Given the description of an element on the screen output the (x, y) to click on. 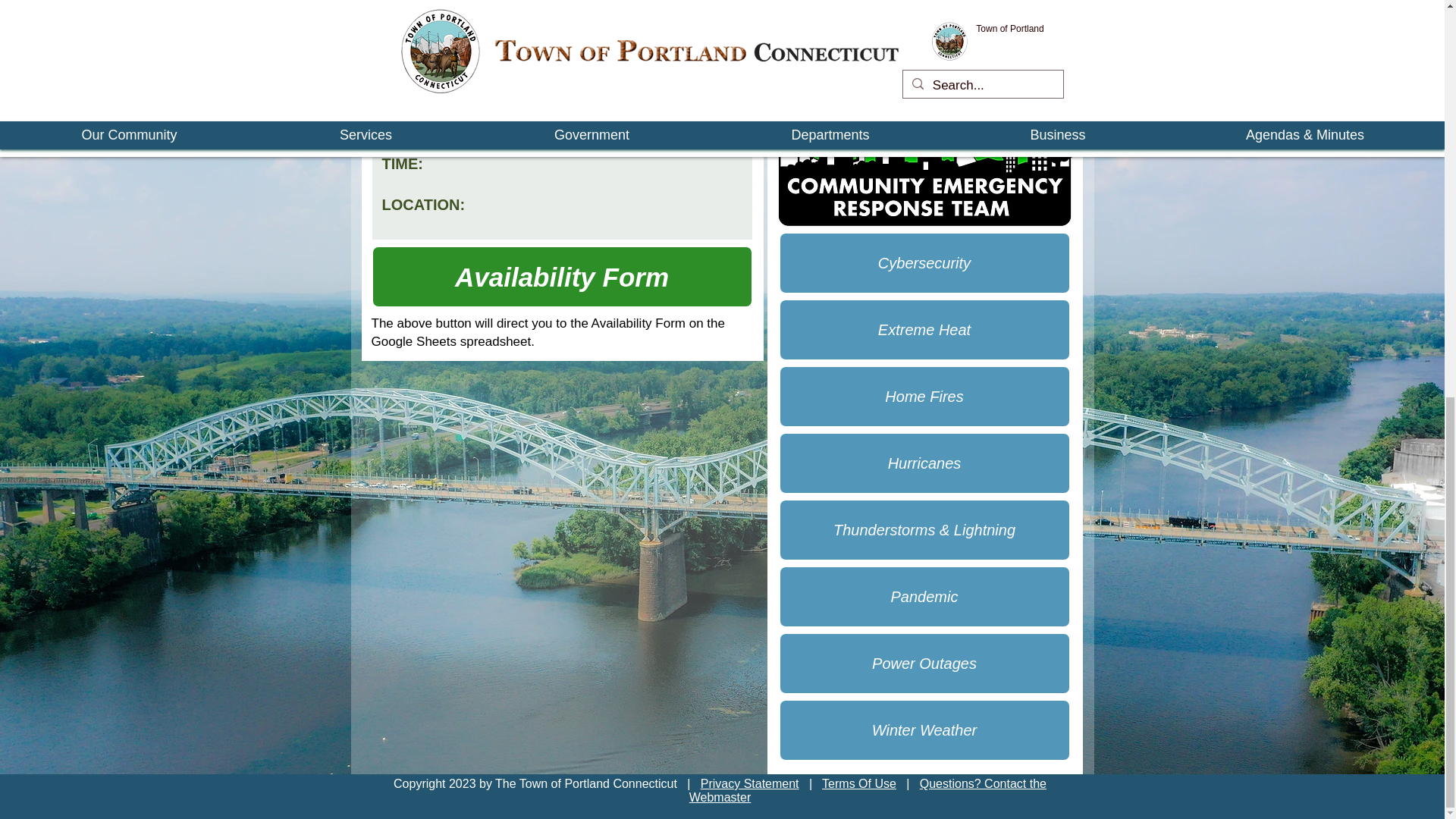
Terms Of Use (859, 783)
Power Outages (924, 663)
Questions? Contact the Webmaster (867, 790)
Availability Form (561, 276)
Hurricanes (924, 463)
Winter Weather (924, 730)
Cybersecurity (924, 262)
Privacy Statement (749, 783)
Home Fires (924, 396)
Extreme Heat (924, 329)
Pandemic (924, 596)
